Given the description of an element on the screen output the (x, y) to click on. 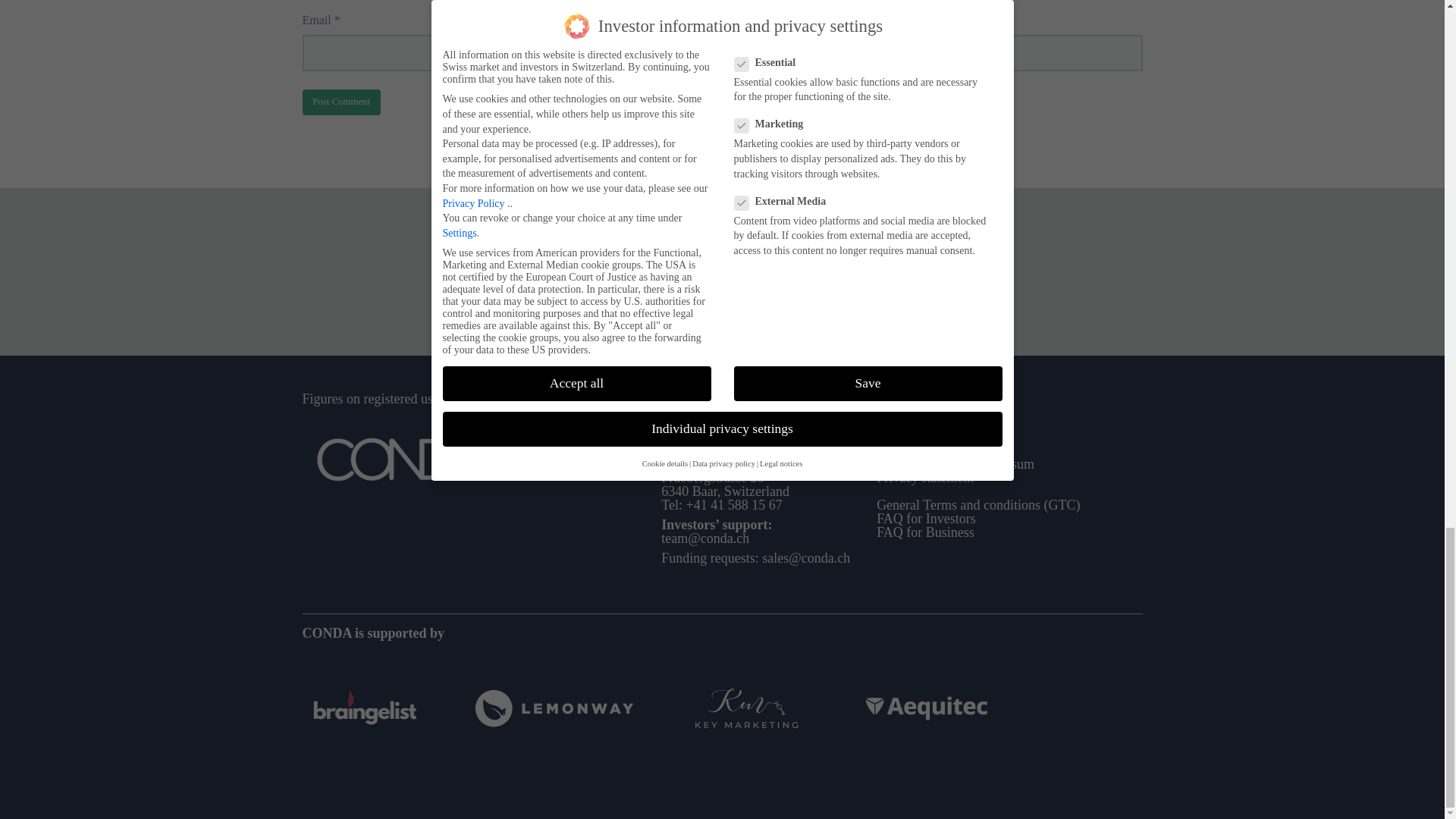
Post Comment (340, 102)
Privacy statement (925, 477)
Post Comment (340, 102)
FAQ for Investors (925, 518)
Risk disclosure  (922, 463)
FAQ for Business (925, 531)
Impressum (1003, 463)
